Given the description of an element on the screen output the (x, y) to click on. 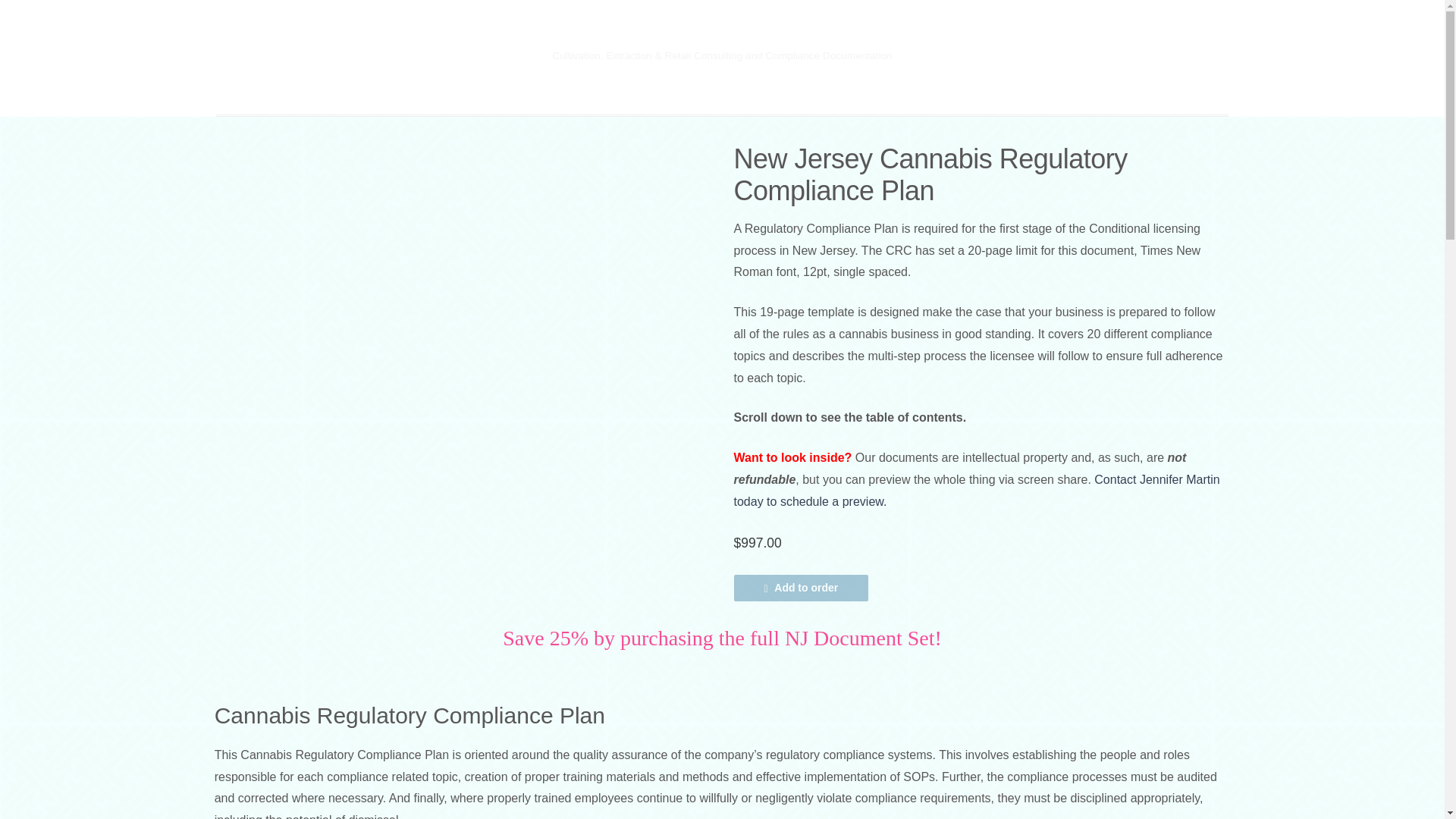
Facility Design (548, 82)
Cannabis Business Consulting (722, 32)
Consulting (448, 82)
